Given the description of an element on the screen output the (x, y) to click on. 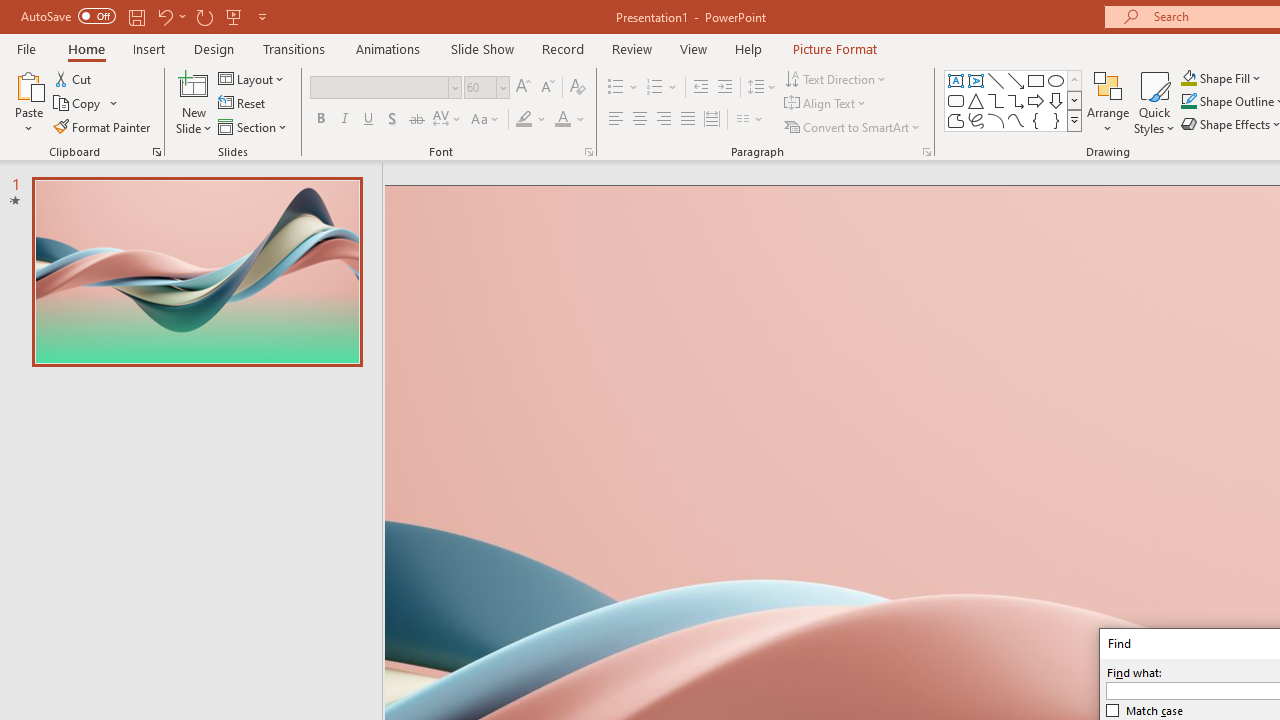
Arrow: Down (1055, 100)
Convert to SmartArt (853, 126)
Shape Outline Blue, Accent 1 (1188, 101)
Save (136, 15)
Paste (28, 102)
Row up (1074, 79)
Align Text (826, 103)
Paragraph... (926, 151)
Open (502, 87)
Align Right (663, 119)
Paste (28, 84)
Decrease Font Size (547, 87)
Quick Styles (1154, 102)
